Given the description of an element on the screen output the (x, y) to click on. 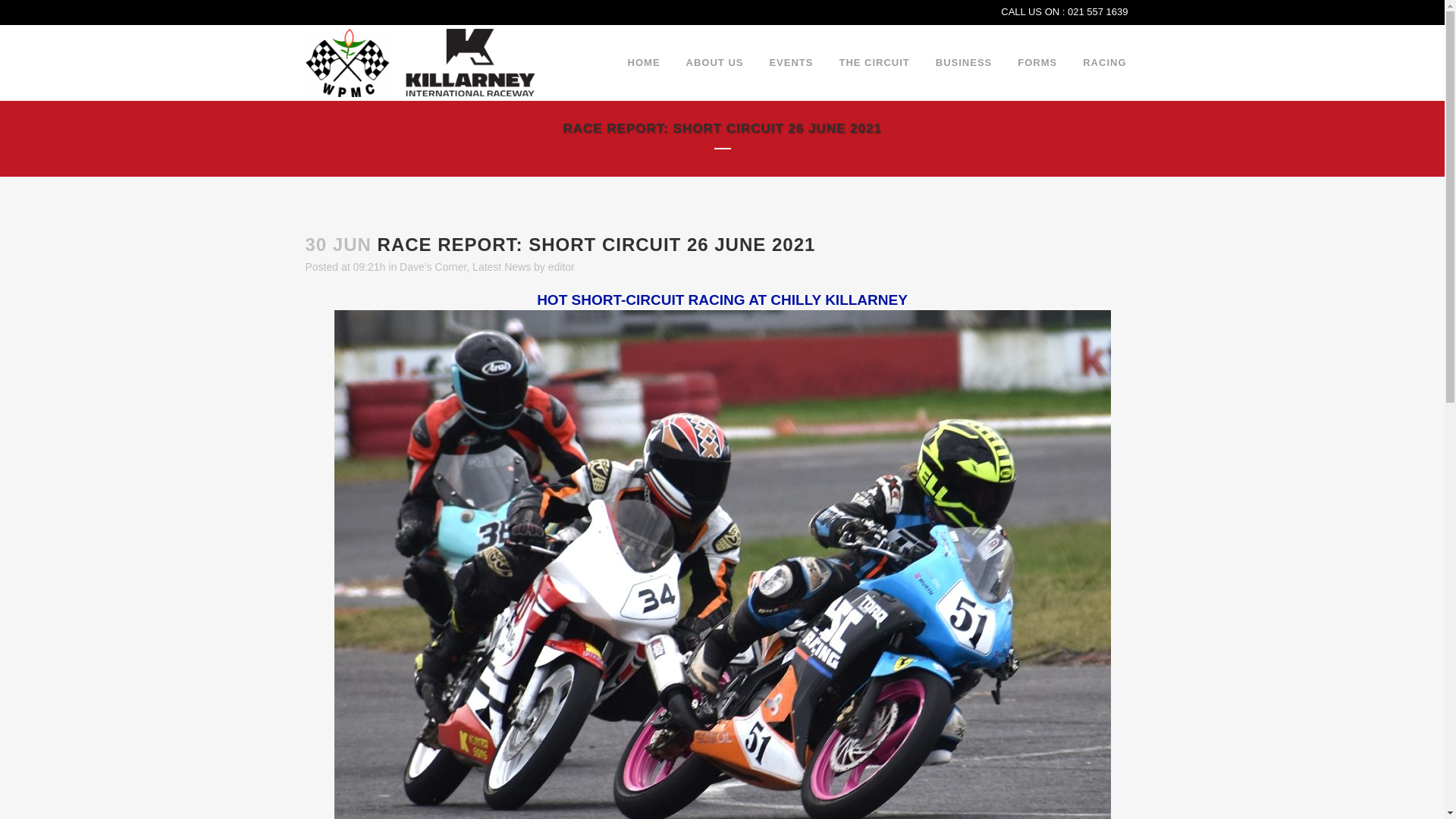
EVENTS (790, 62)
ABOUT US (714, 62)
RACING (1104, 62)
BUSINESS (963, 62)
THE CIRCUIT (873, 62)
